Given the description of an element on the screen output the (x, y) to click on. 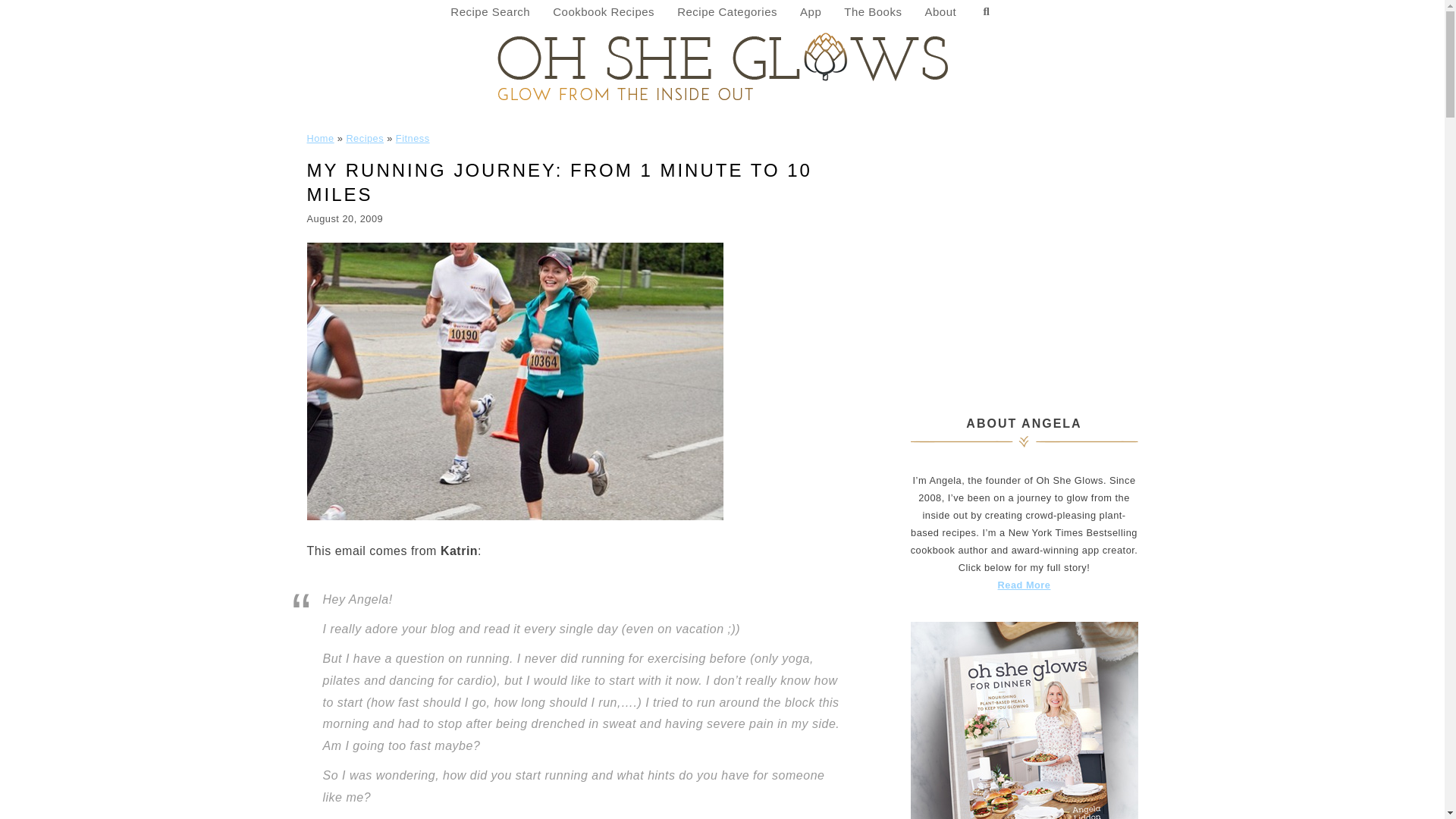
Search (986, 11)
Fitness (412, 138)
Cookbook Recipes (603, 11)
Home (319, 138)
Recipes (365, 138)
Oh She Glows (721, 64)
Oh She Glows (722, 65)
The Books (872, 11)
App (810, 11)
Recipe Search (490, 11)
About (940, 11)
Recipe Categories (727, 11)
Read More (1024, 584)
